Given the description of an element on the screen output the (x, y) to click on. 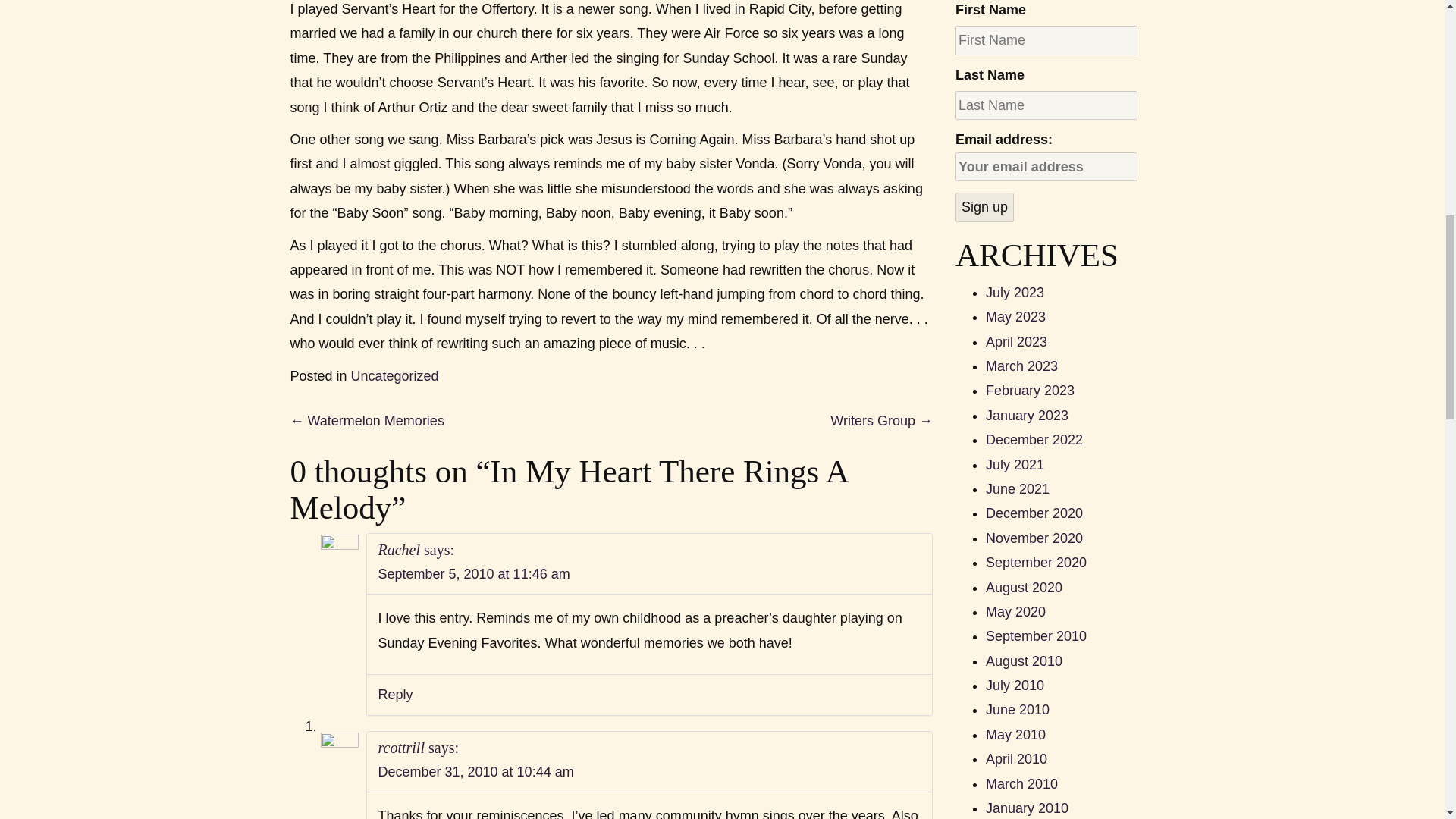
June 2021 (1017, 488)
rcottrill (400, 746)
Sign up (984, 206)
September 5, 2010 at 11:46 am (473, 573)
December 31, 2010 at 10:44 am (475, 771)
May 2023 (1015, 316)
September 2020 (1035, 562)
Reply (394, 694)
March 2023 (1021, 365)
December 2020 (1034, 513)
December 2022 (1034, 439)
August 2020 (1023, 586)
Uncategorized (394, 376)
November 2020 (1034, 538)
January 2023 (1026, 415)
